Given the description of an element on the screen output the (x, y) to click on. 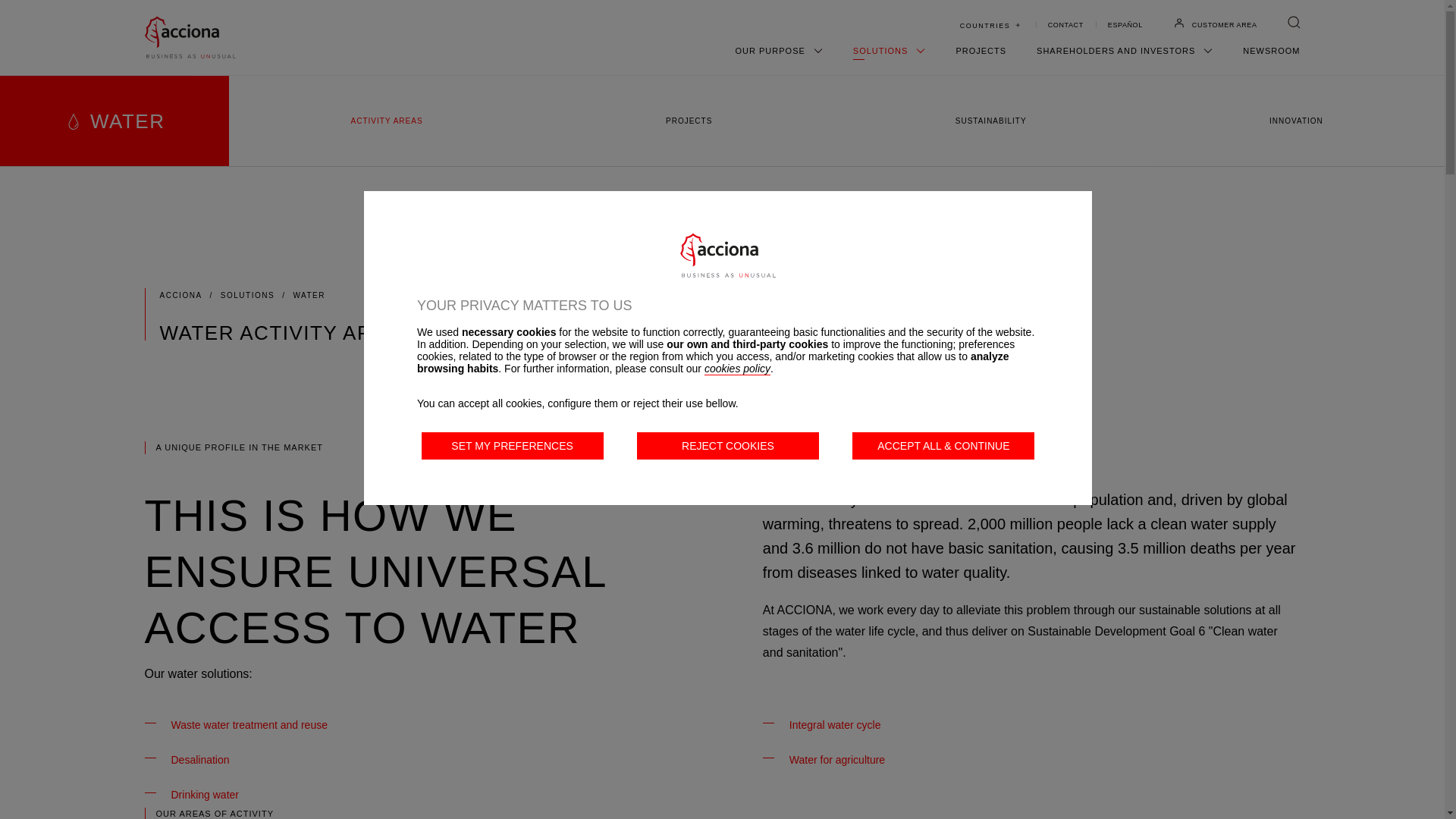
Logo Acciona (727, 254)
REJECT COOKIES (727, 445)
cookies policy (737, 368)
SET MY PREFERENCES (513, 445)
